Given the description of an element on the screen output the (x, y) to click on. 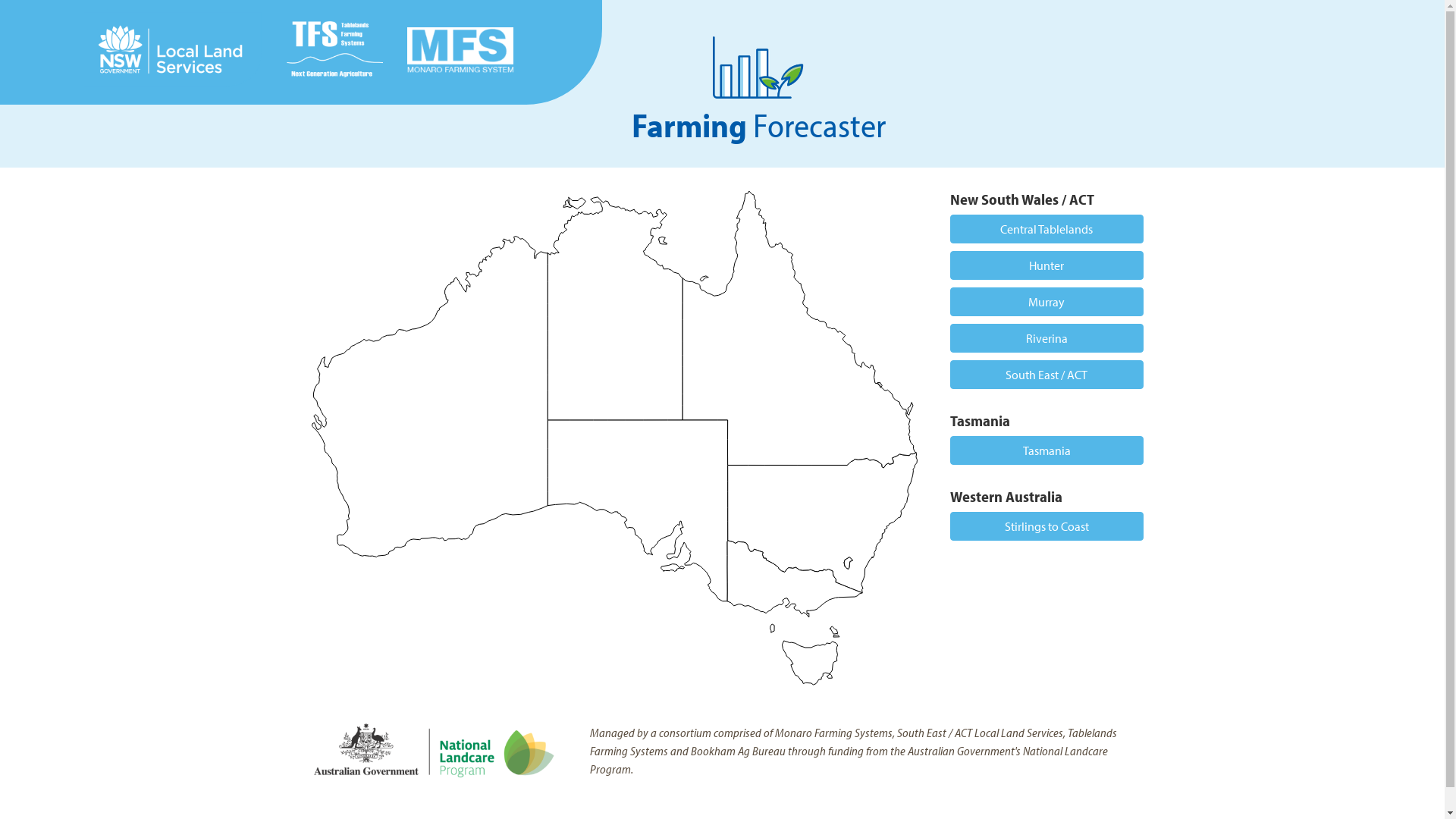
Murray Element type: text (1045, 301)
Riverina Element type: text (1045, 337)
Tasmania Element type: text (1045, 450)
Hunter Element type: text (1045, 265)
Central Tablelands Element type: text (1045, 228)
Stirlings to Coast Element type: text (1045, 525)
South East / ACT Element type: text (1045, 374)
